Given the description of an element on the screen output the (x, y) to click on. 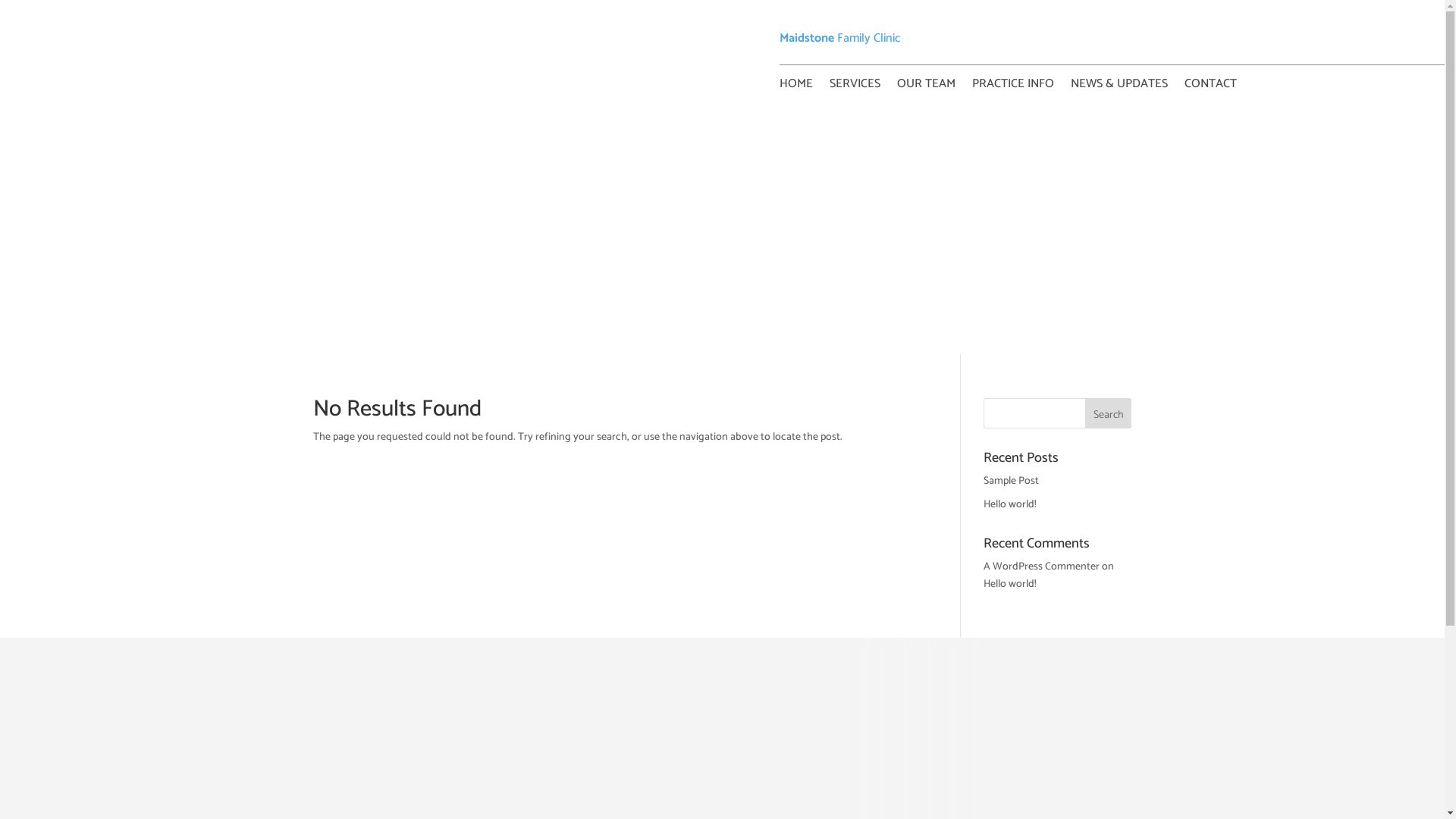
Hello world! Element type: text (1009, 584)
OUR TEAM Element type: text (925, 86)
Search Element type: text (1108, 413)
CONTACT Element type: text (1210, 86)
Sample Post Element type: text (1010, 480)
SERVICES Element type: text (854, 86)
Hello world! Element type: text (1009, 504)
NEWS & UPDATES Element type: text (1118, 86)
HOME Element type: text (795, 86)
PRACTICE INFO Element type: text (1013, 86)
A WordPress Commenter Element type: text (1041, 566)
